Given the description of an element on the screen output the (x, y) to click on. 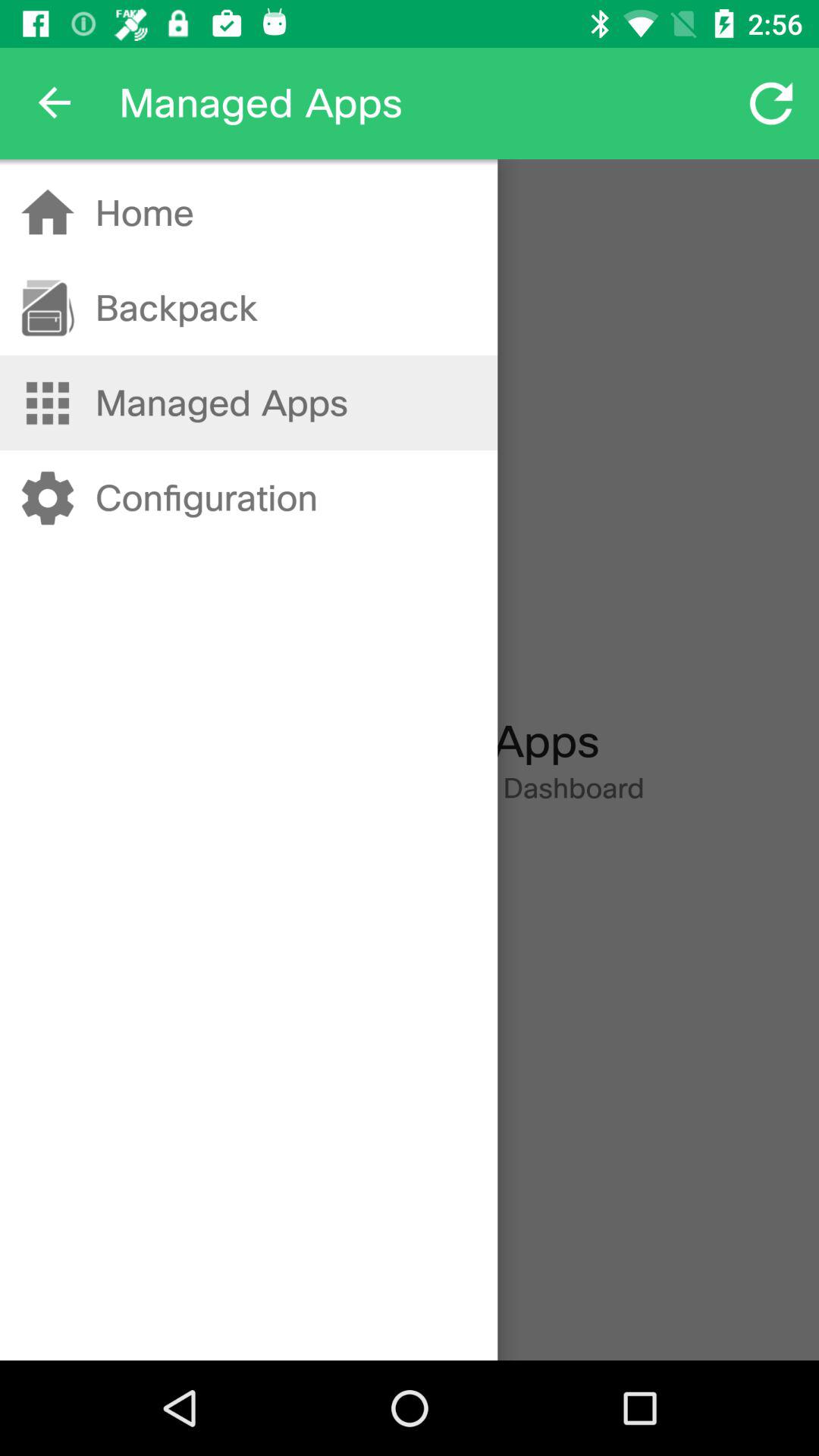
open the item below managed apps (206, 497)
